Given the description of an element on the screen output the (x, y) to click on. 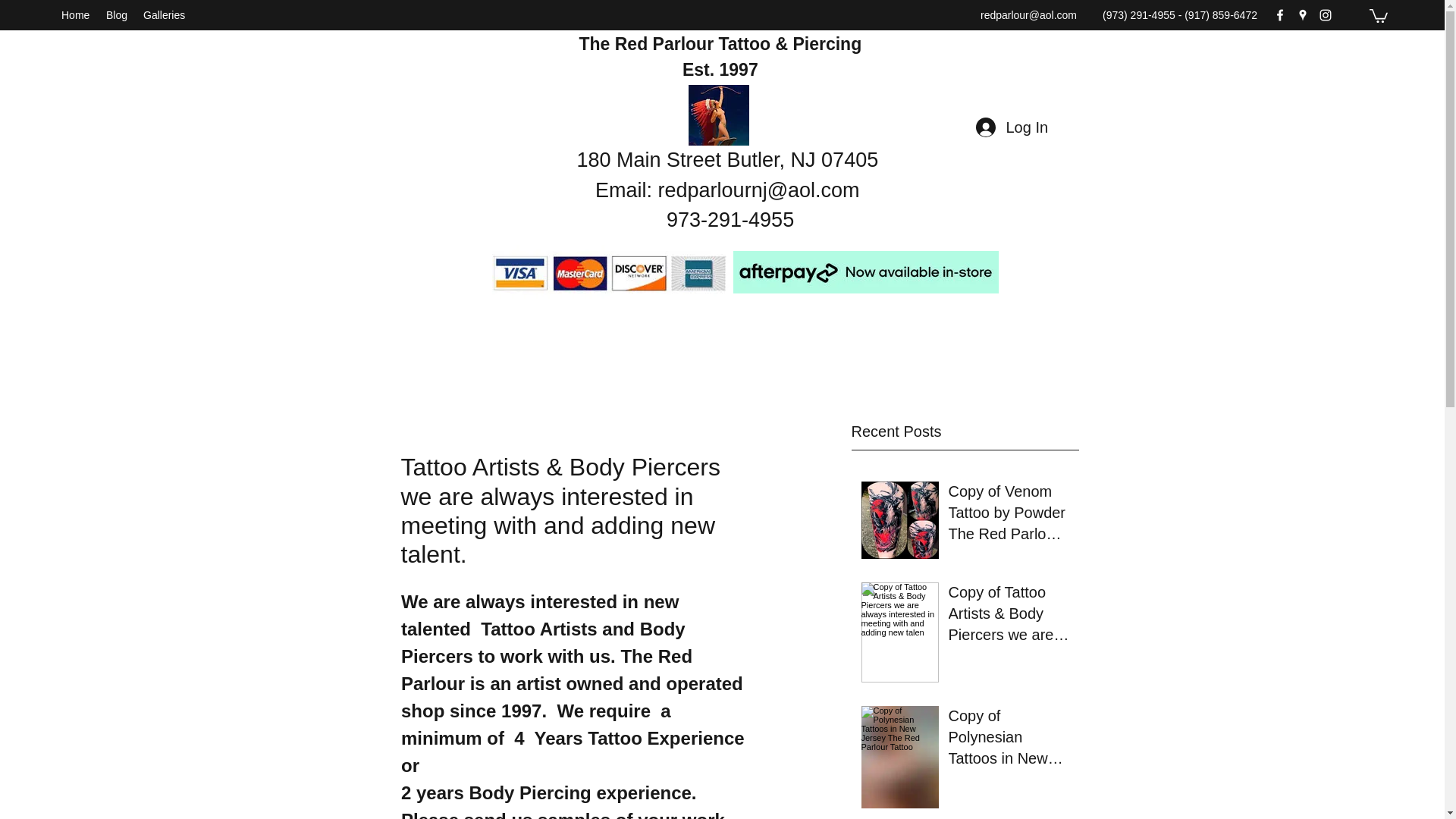
Galleries (165, 15)
Home (76, 15)
Blog (117, 15)
Log In (1009, 127)
the red parlour tattoo and piercing acce (611, 271)
